Given the description of an element on the screen output the (x, y) to click on. 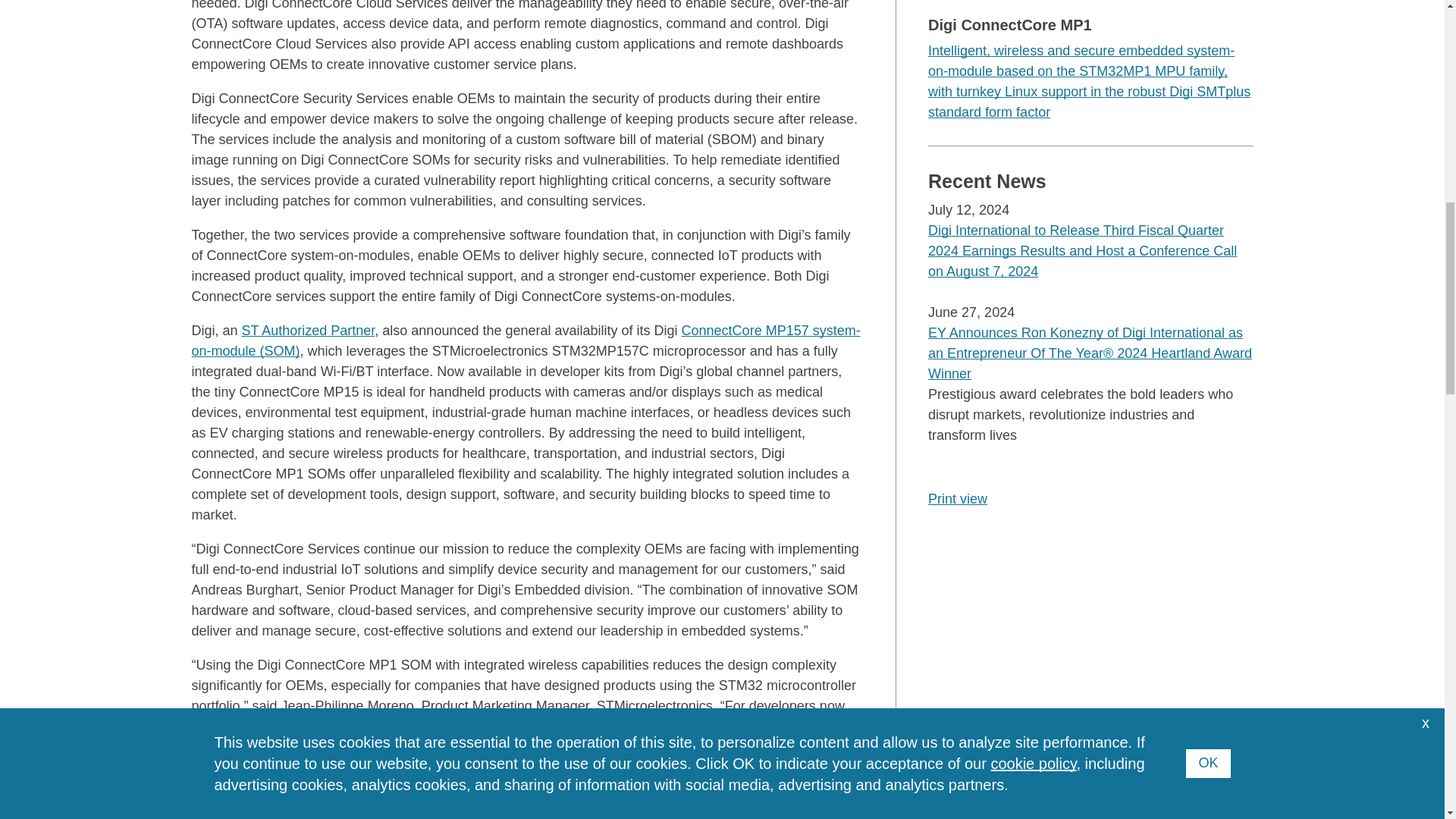
Printable View (957, 498)
